Given the description of an element on the screen output the (x, y) to click on. 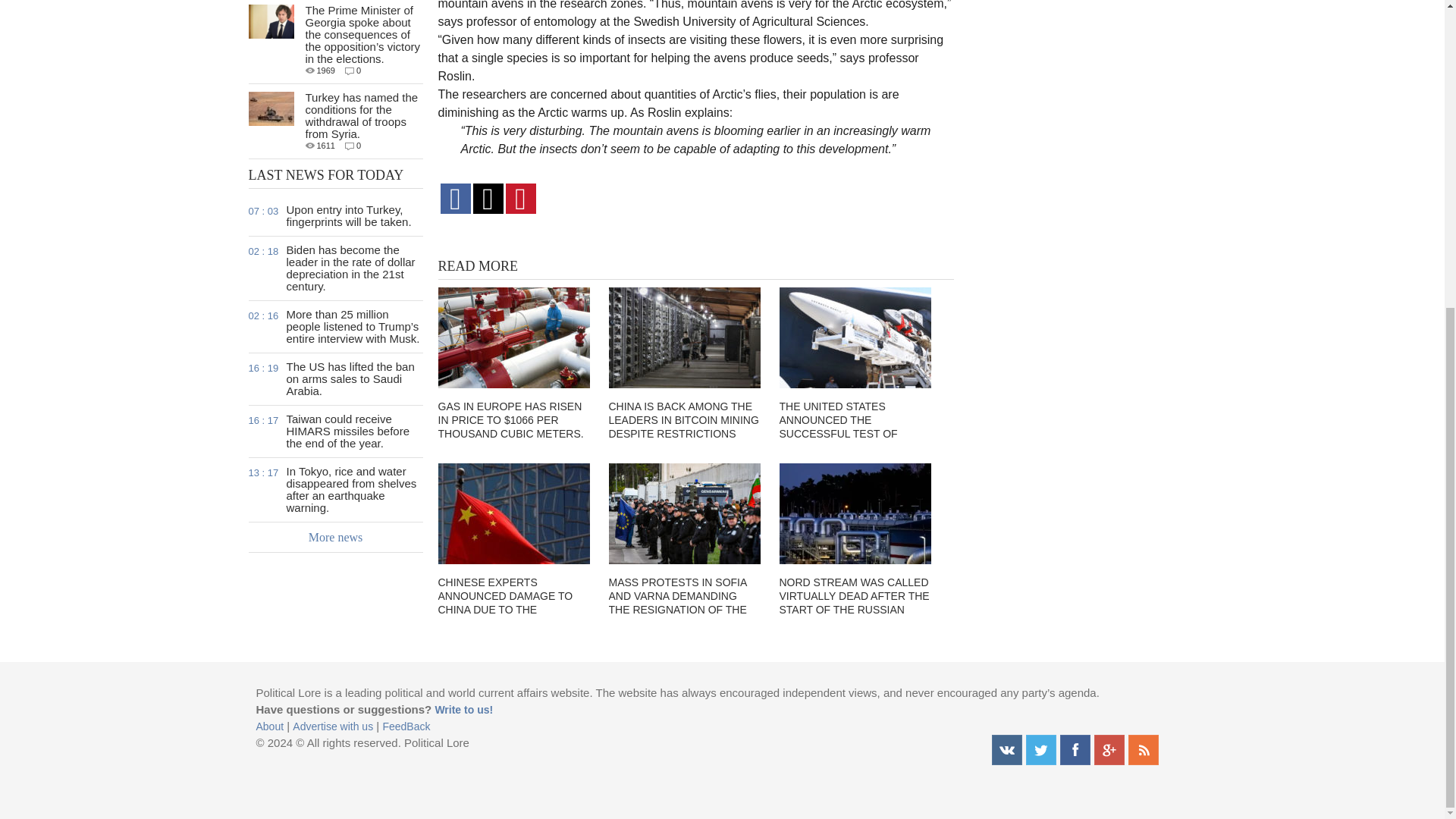
Twitter (1040, 749)
More news (335, 537)
